Given the description of an element on the screen output the (x, y) to click on. 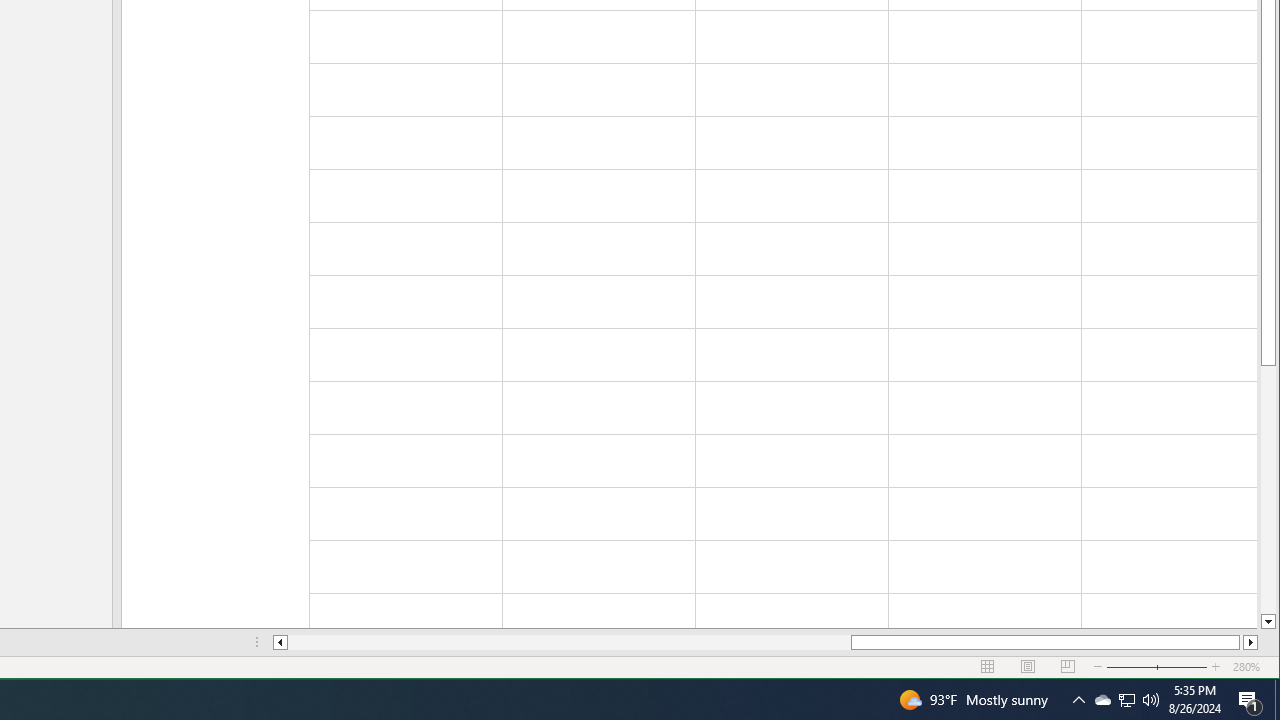
Show desktop (1277, 699)
User Promoted Notification Area (1126, 699)
